Given the description of an element on the screen output the (x, y) to click on. 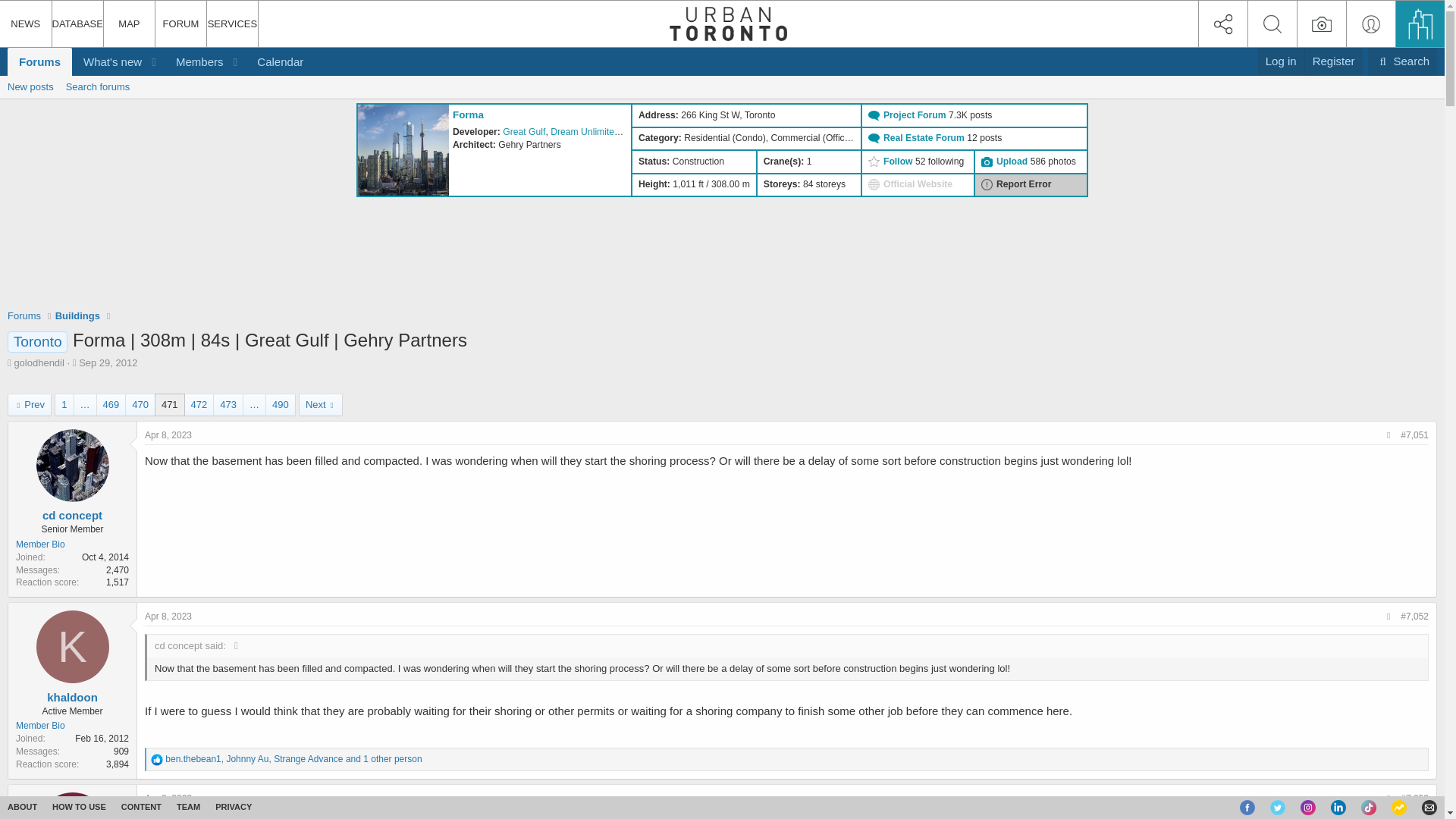
Apr 8, 2023 at 9:57 AM (168, 434)
Search (1402, 61)
New posts (30, 87)
Real Estate Forum (924, 137)
Great Gulf (523, 131)
Upload (1012, 161)
Like (157, 759)
Apr 8, 2023 at 12:36 PM (168, 615)
Forums (39, 61)
Members (194, 61)
